Given the description of an element on the screen output the (x, y) to click on. 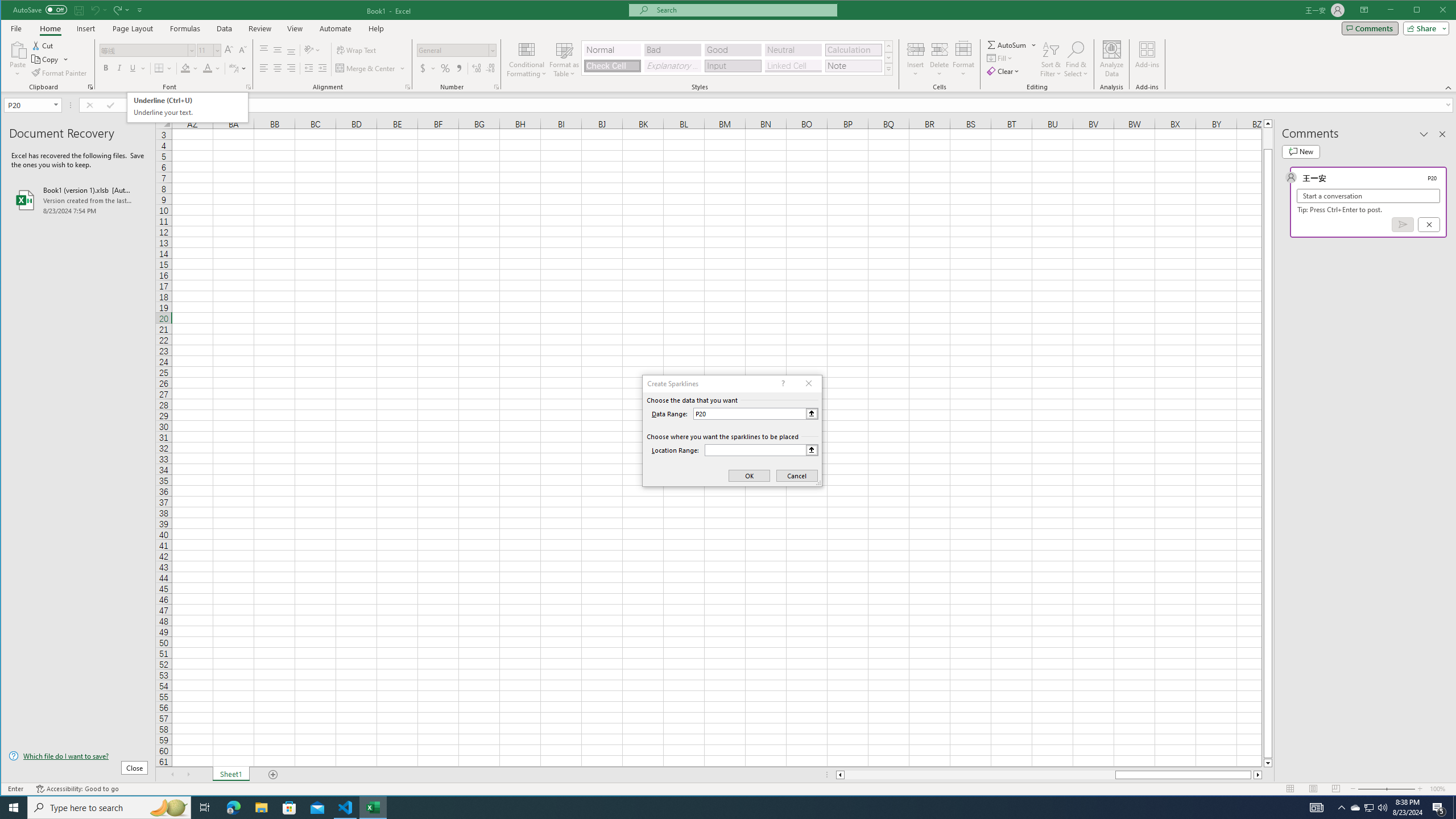
Format Painter (59, 72)
Show Phonetic Field (233, 68)
Borders (163, 68)
Sum (1007, 44)
Page up (1267, 138)
Format Cell Number (496, 86)
Cut (42, 45)
